Given the description of an element on the screen output the (x, y) to click on. 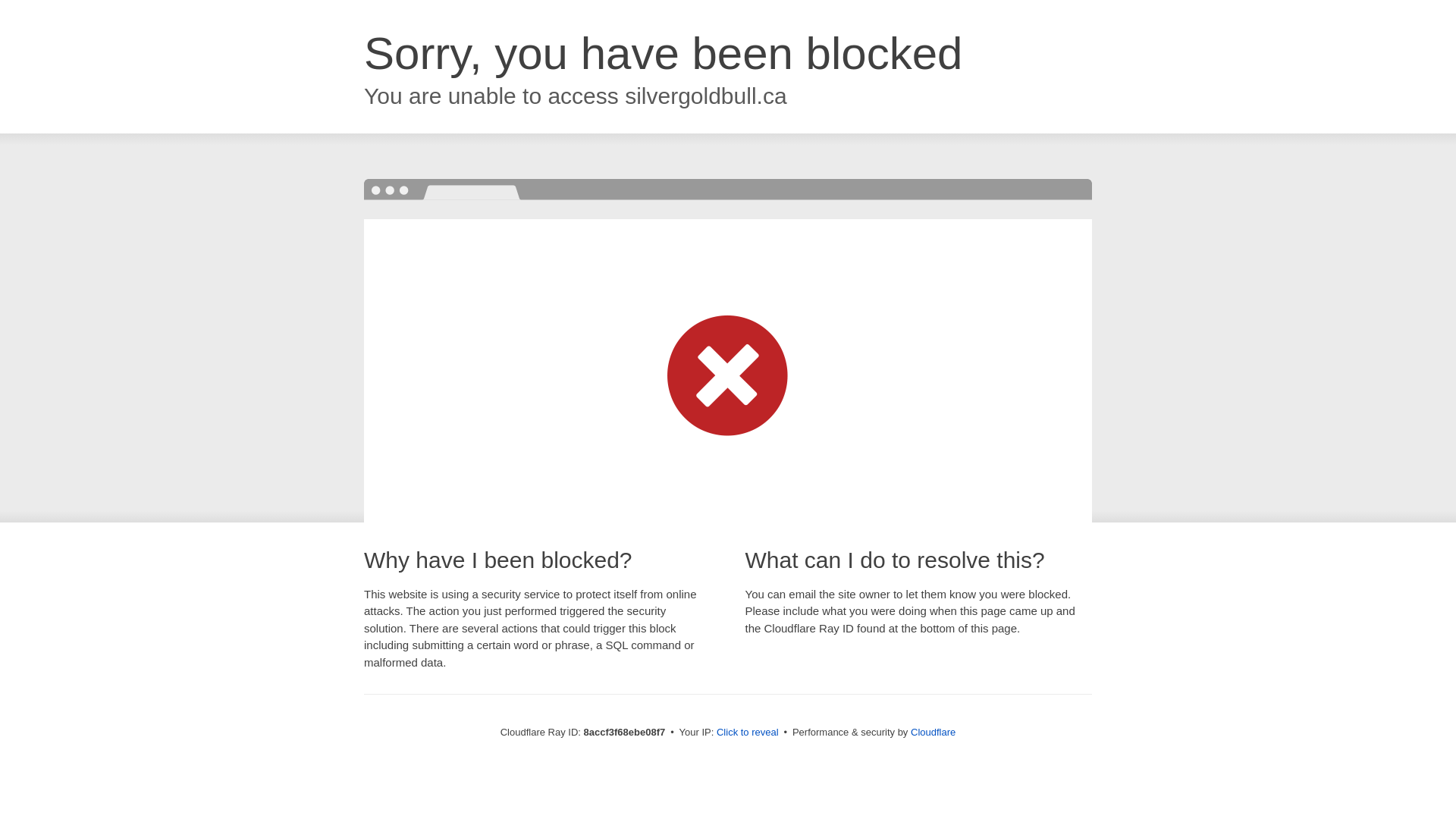
Cloudflare (933, 731)
Click to reveal (747, 732)
